Given the description of an element on the screen output the (x, y) to click on. 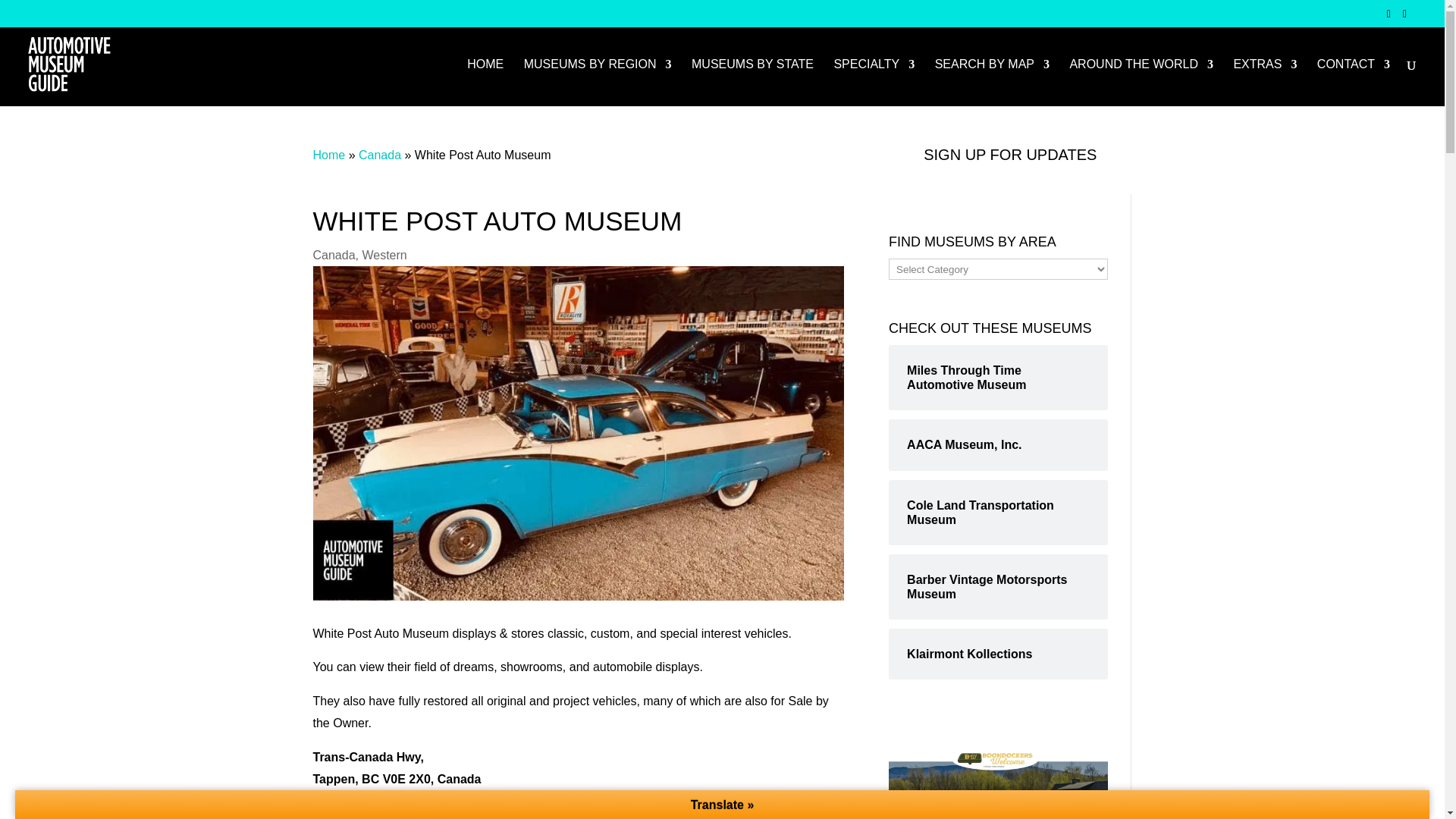
MUSEUMS BY STATE (752, 82)
AROUND THE WORLD (1140, 82)
MUSEUMS BY REGION (597, 82)
EXTRAS (1265, 82)
CONTACT (1353, 82)
SPECIALTY (873, 82)
SEARCH BY MAP (991, 82)
